Given the description of an element on the screen output the (x, y) to click on. 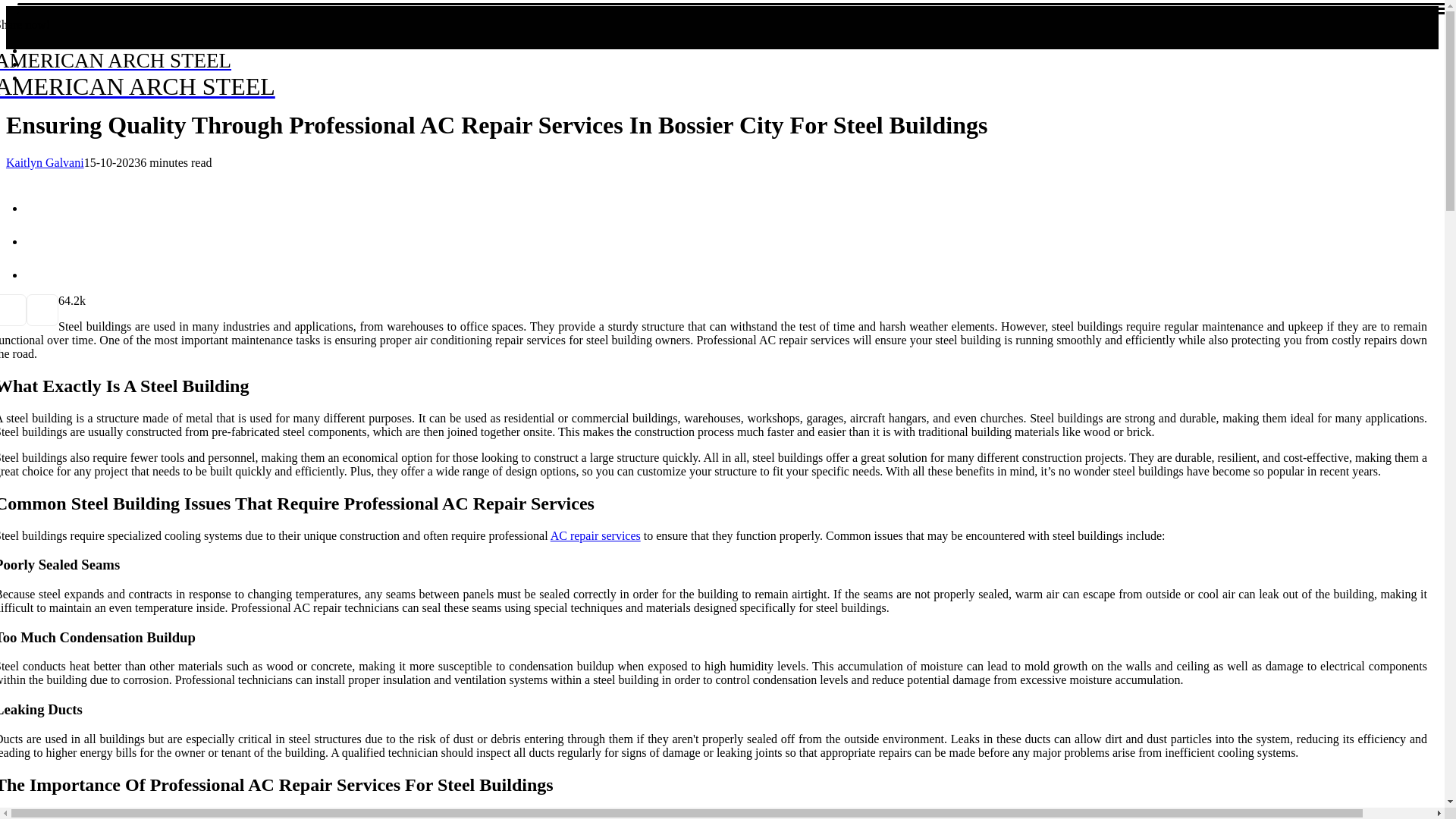
Kaitlyn Galvani (44, 162)
AC repair services (595, 535)
Posts by Kaitlyn Galvani (44, 162)
